Given the description of an element on the screen output the (x, y) to click on. 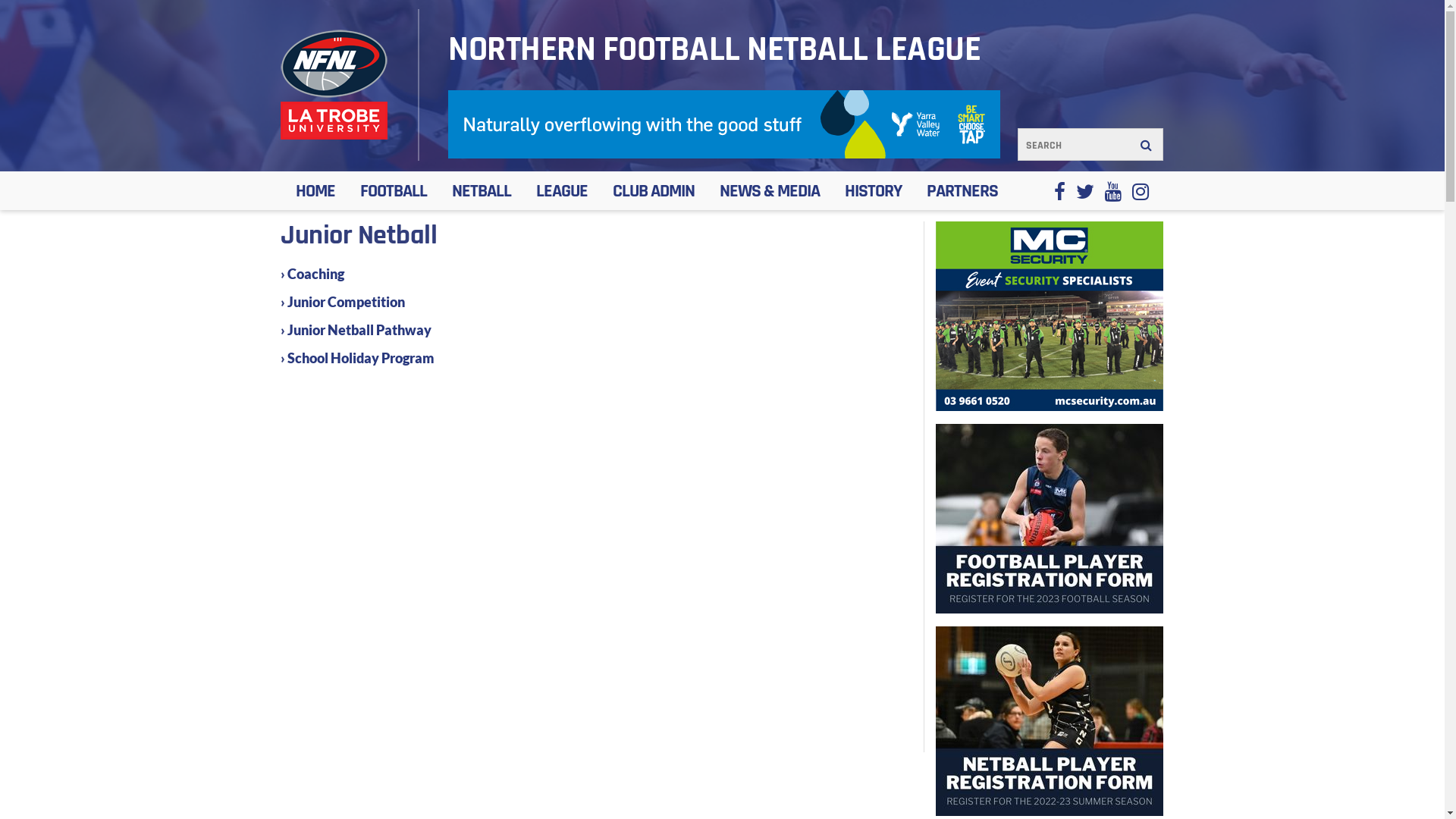
Northern Football Netball League Element type: hover (333, 84)
NEWS & MEDIA Element type: text (769, 190)
Junior Competition Element type: text (345, 301)
HISTORY Element type: text (872, 190)
PARTNERS Element type: text (961, 190)
Junior Netball Pathway Element type: text (359, 329)
Facebook Element type: hover (1059, 190)
FOOTBALL Element type: text (393, 190)
NETBALL Element type: text (481, 190)
LEAGUE Element type: text (561, 190)
Coaching Element type: text (315, 273)
HOME Element type: text (315, 190)
Instagram Element type: hover (1140, 190)
CLUB ADMIN Element type: text (653, 190)
YouTube Element type: hover (1112, 190)
School Holiday Program Element type: text (360, 357)
Twitter Element type: hover (1085, 190)
